Given the description of an element on the screen output the (x, y) to click on. 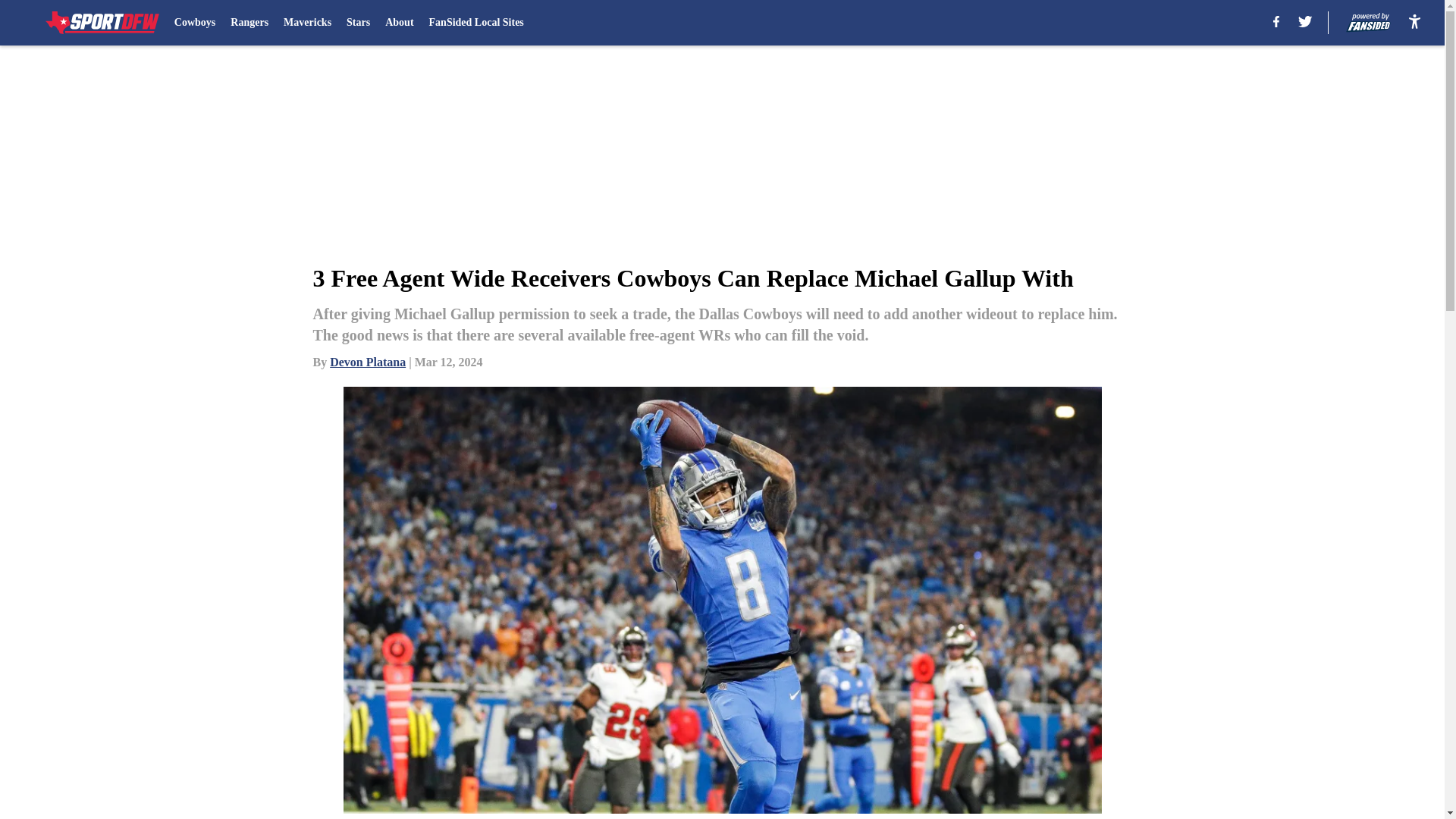
Rangers (248, 22)
Stars (357, 22)
About (399, 22)
Mavericks (307, 22)
FanSided Local Sites (476, 22)
Cowboys (194, 22)
Devon Platana (368, 361)
